Given the description of an element on the screen output the (x, y) to click on. 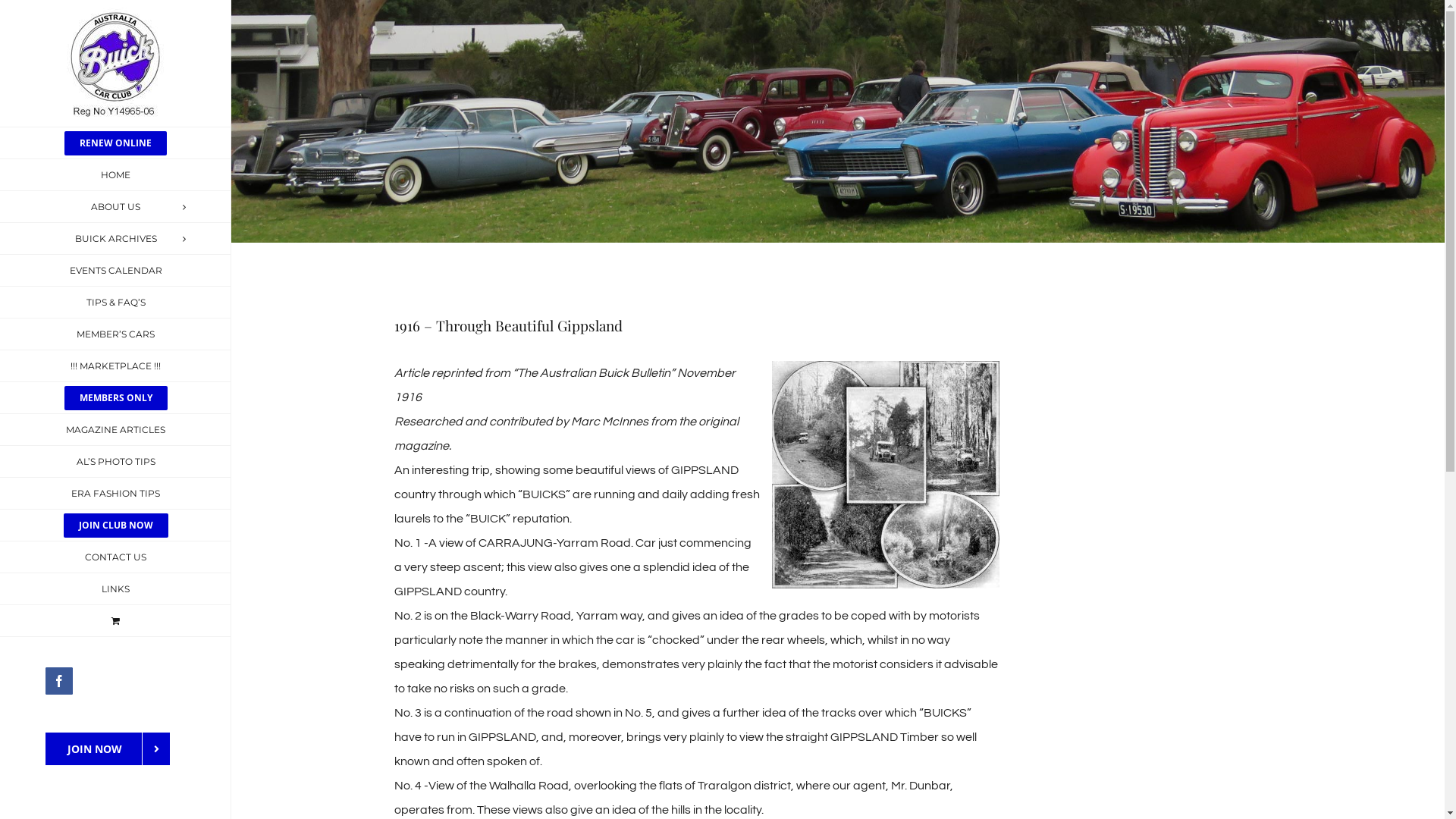
!!! MARKETPLACE !!! Element type: text (115, 366)
HOME Element type: text (115, 175)
CONTACT US Element type: text (115, 557)
MAGAZINE ARTICLES Element type: text (115, 429)
JOIN NOW Element type: text (107, 748)
MEMBERS ONLY Element type: text (115, 398)
RENEW ONLINE Element type: text (115, 142)
ERA FASHION TIPS Element type: text (115, 493)
Facebook Element type: text (58, 680)
EVENTS CALENDAR Element type: text (115, 270)
ABOUT US Element type: text (115, 206)
LINKS Element type: text (115, 589)
JOIN CLUB NOW Element type: text (115, 525)
BUICK ARCHIVES Element type: text (115, 238)
